Given the description of an element on the screen output the (x, y) to click on. 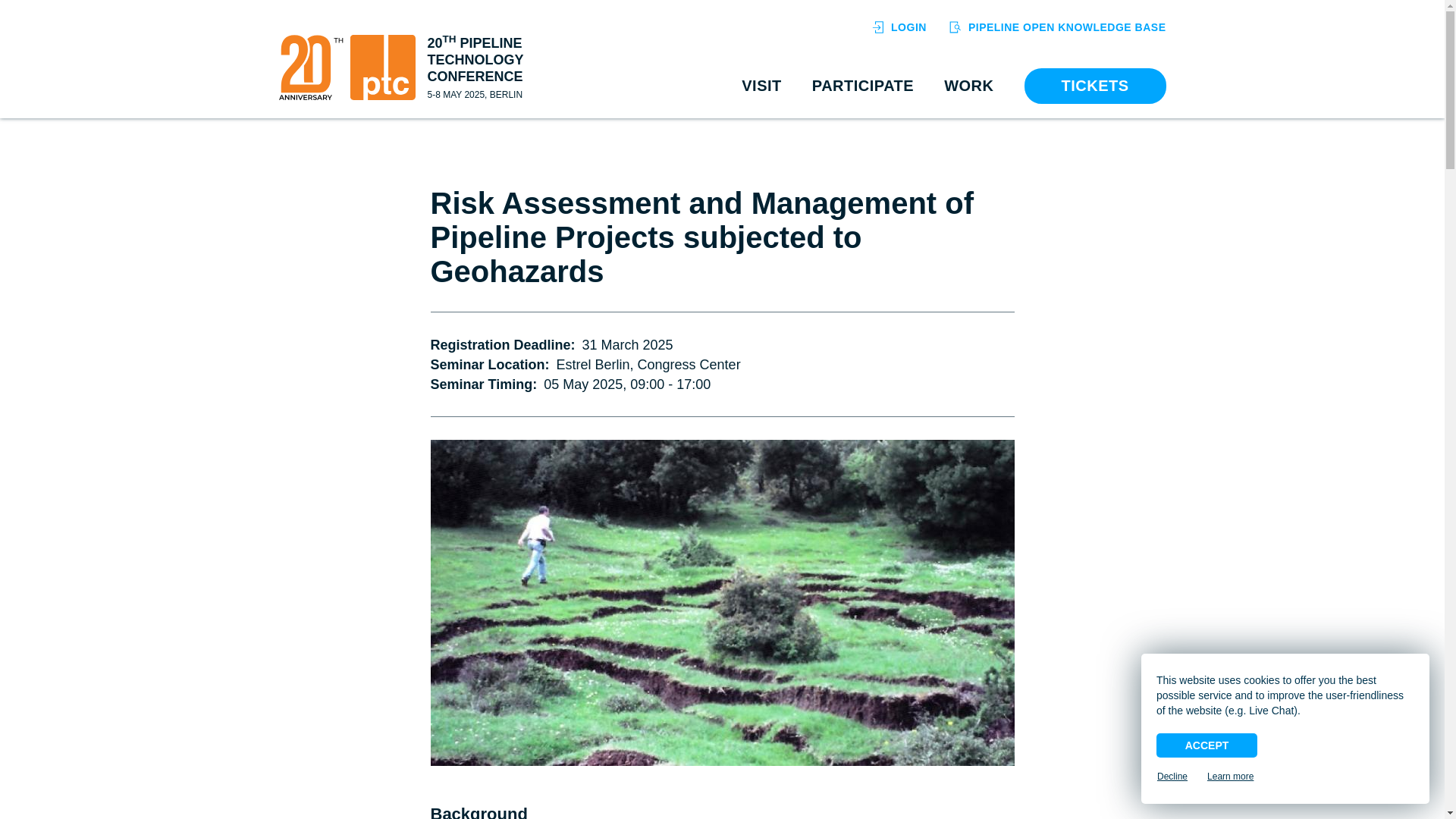
Decline (1172, 776)
LOGIN (899, 27)
Learn more (1230, 776)
ACCEPT (1206, 745)
PIPELINE OPEN KNOWLEDGE BASE (1057, 27)
Accept cookies (1206, 745)
